Given the description of an element on the screen output the (x, y) to click on. 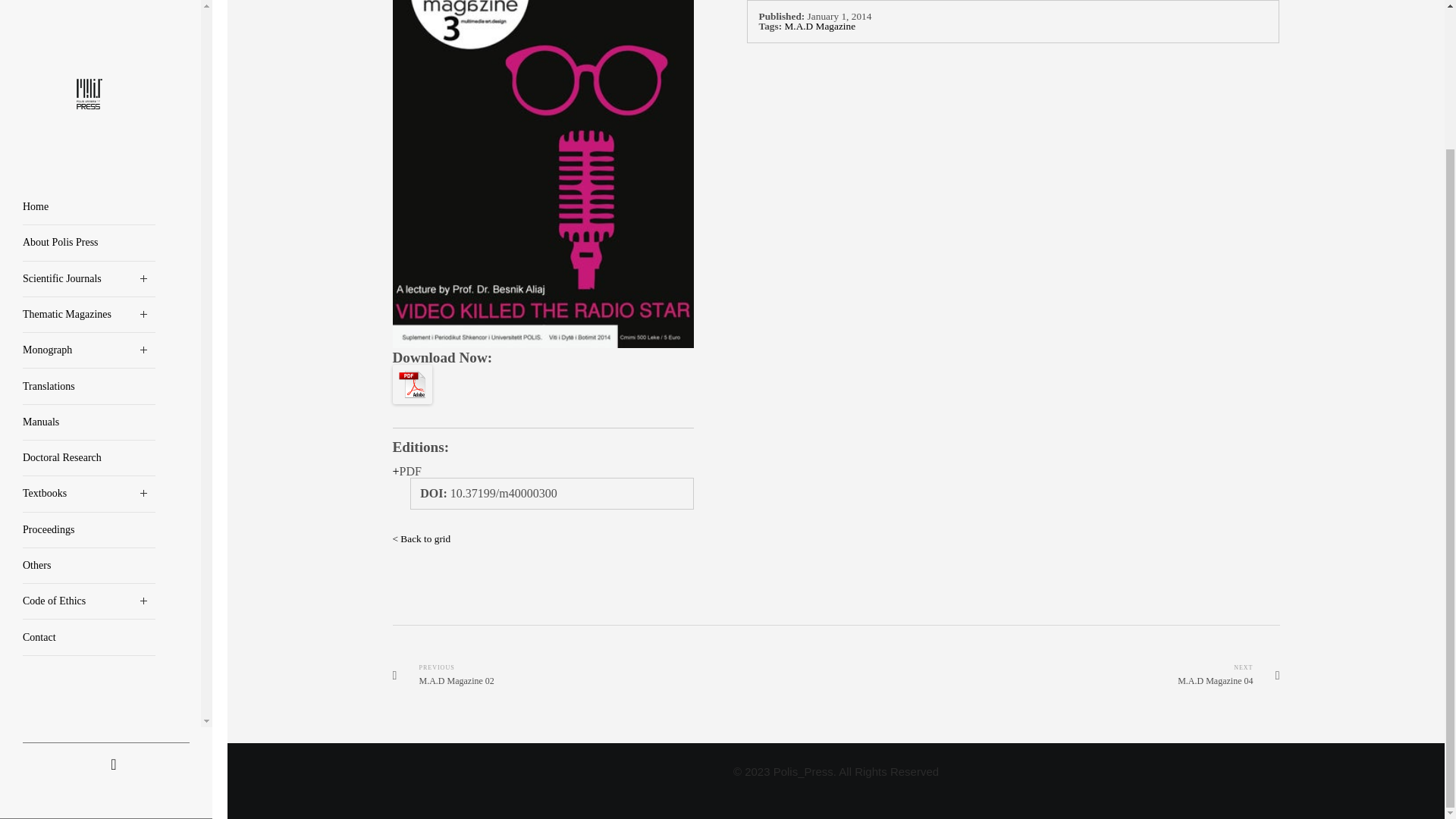
Others (89, 394)
Doctoral Research (89, 286)
Scientific Journals (89, 108)
Thematic Magazines (89, 143)
Contact (89, 465)
Proceedings (89, 358)
Code of Ethics (89, 429)
Translations (89, 214)
Monograph (89, 179)
M.A.D Magazine (820, 25)
About Polis Press (89, 71)
Textbooks (89, 322)
Home (89, 36)
Manuals (89, 251)
